Given the description of an element on the screen output the (x, y) to click on. 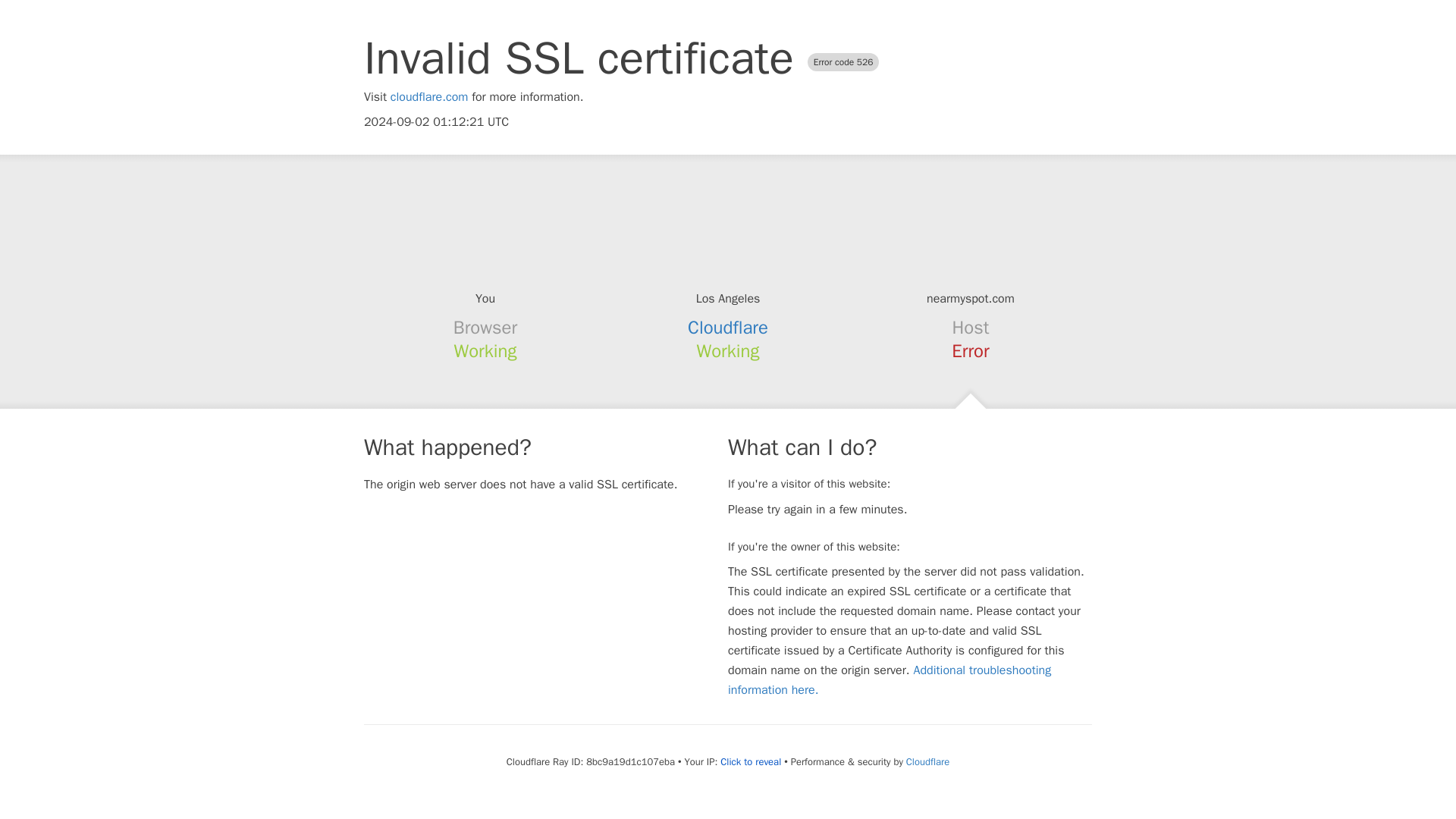
cloudflare.com (429, 96)
Additional troubleshooting information here. (889, 679)
Click to reveal (750, 762)
Cloudflare (927, 761)
Cloudflare (727, 327)
